Given the description of an element on the screen output the (x, y) to click on. 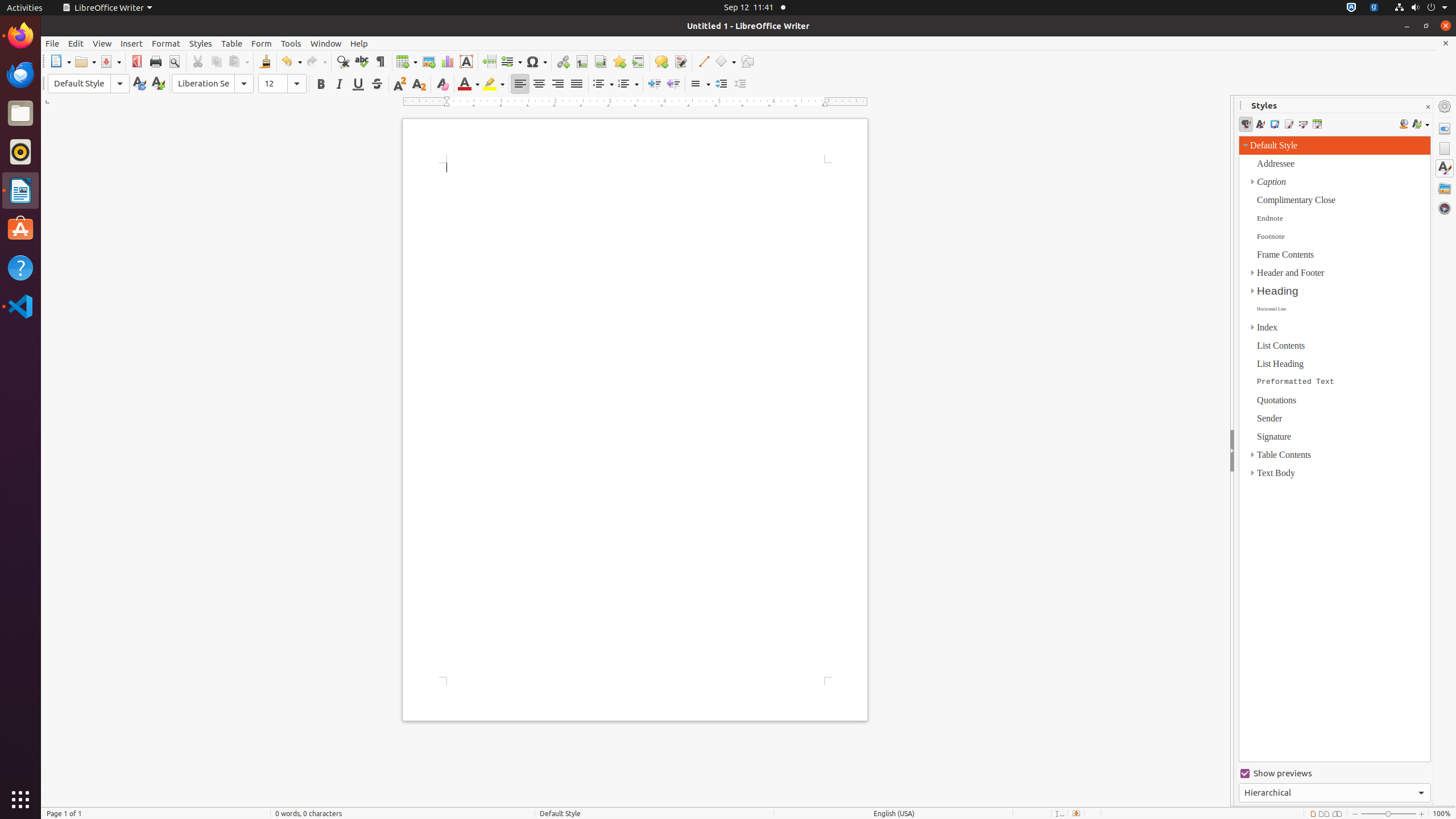
Rhythmbox Element type: push-button (20, 151)
Open Element type: push-button (84, 61)
PDF Element type: push-button (136, 61)
Italic Element type: toggle-button (338, 83)
Symbol Element type: push-button (535, 61)
